Given the description of an element on the screen output the (x, y) to click on. 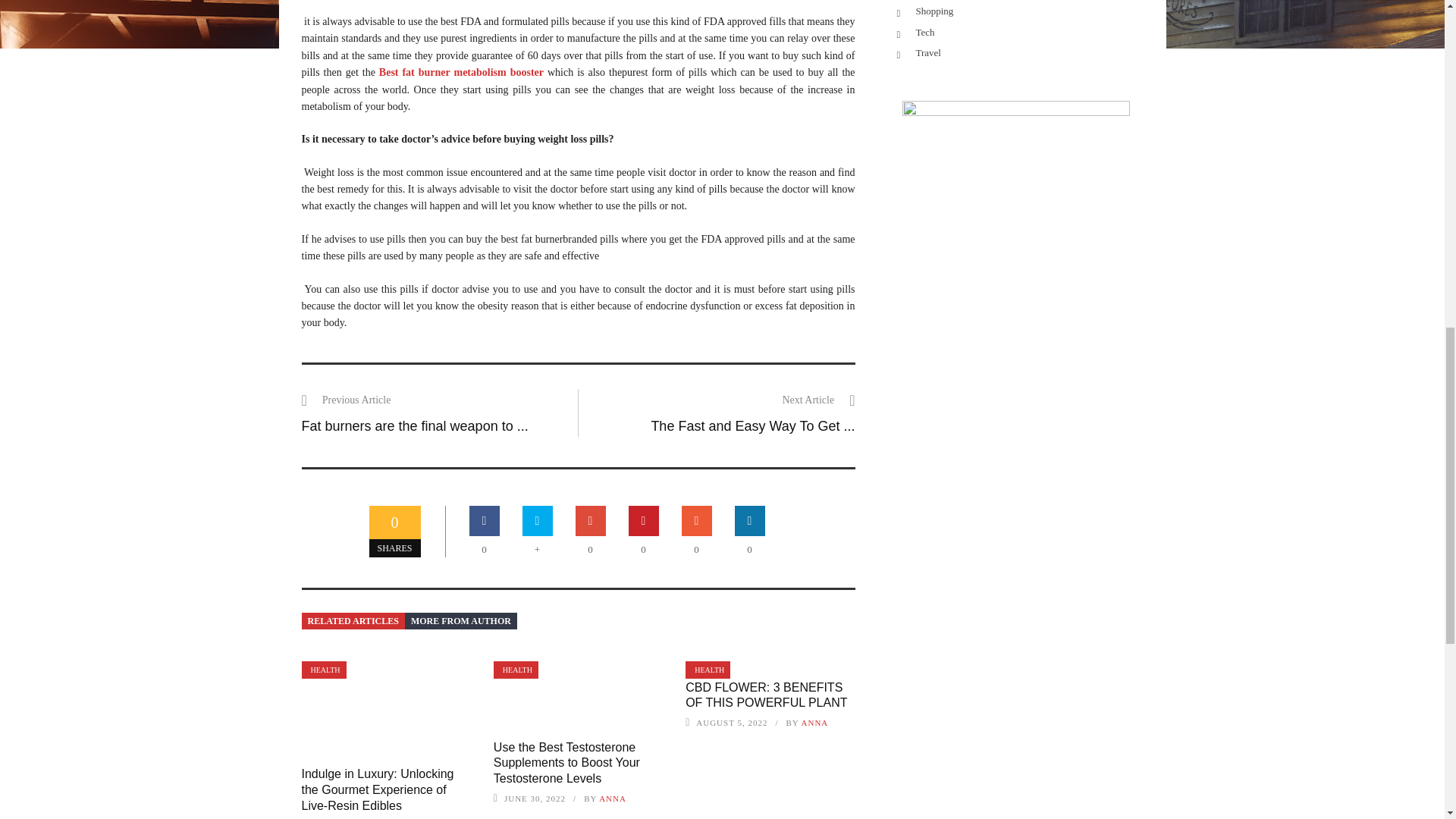
MORE FROM AUTHOR (460, 620)
Best fat burner metabolism booster (460, 71)
The Fast and Easy Way To Get ... (752, 426)
Fat burners are the final weapon to ... (414, 426)
RELATED ARTICLES (352, 620)
